Given the description of an element on the screen output the (x, y) to click on. 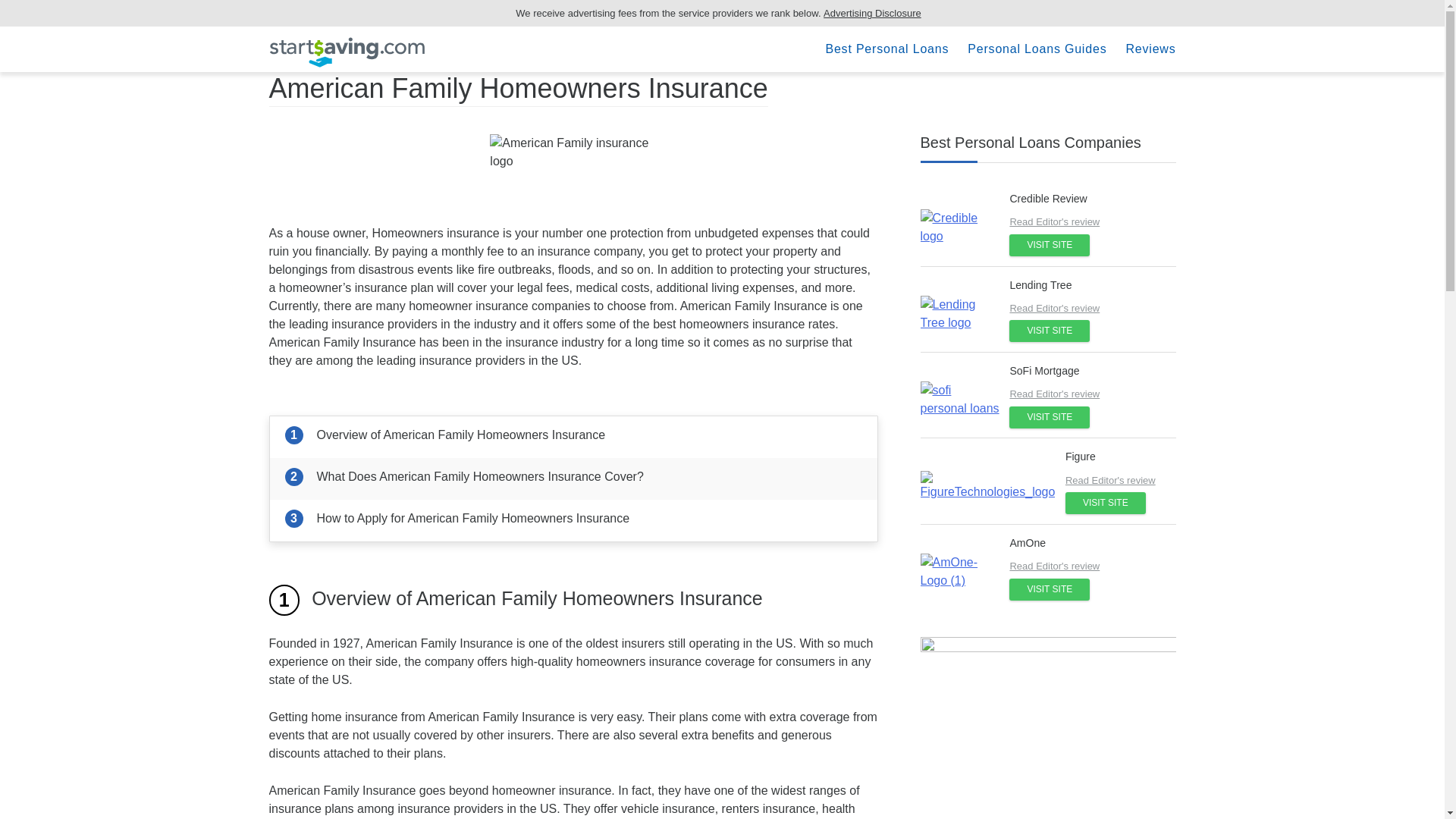
SoFi Mortgage (1043, 370)
VISIT SITE (1049, 331)
Figure (1080, 456)
Personal Loans Guides (1037, 49)
Read Editor's review (1091, 308)
Read Editor's review (1091, 566)
Read Editor's review (1148, 480)
Overview of American Family Homeowners Insurance (573, 436)
Read Editor's review (1091, 222)
Credible Review (1047, 198)
VISIT SITE (1049, 245)
Read Editor's review (1091, 394)
VISIT SITE (1049, 417)
How to Apply for American Family Homeowners Insurance (573, 520)
VISIT SITE (1105, 503)
